Given the description of an element on the screen output the (x, y) to click on. 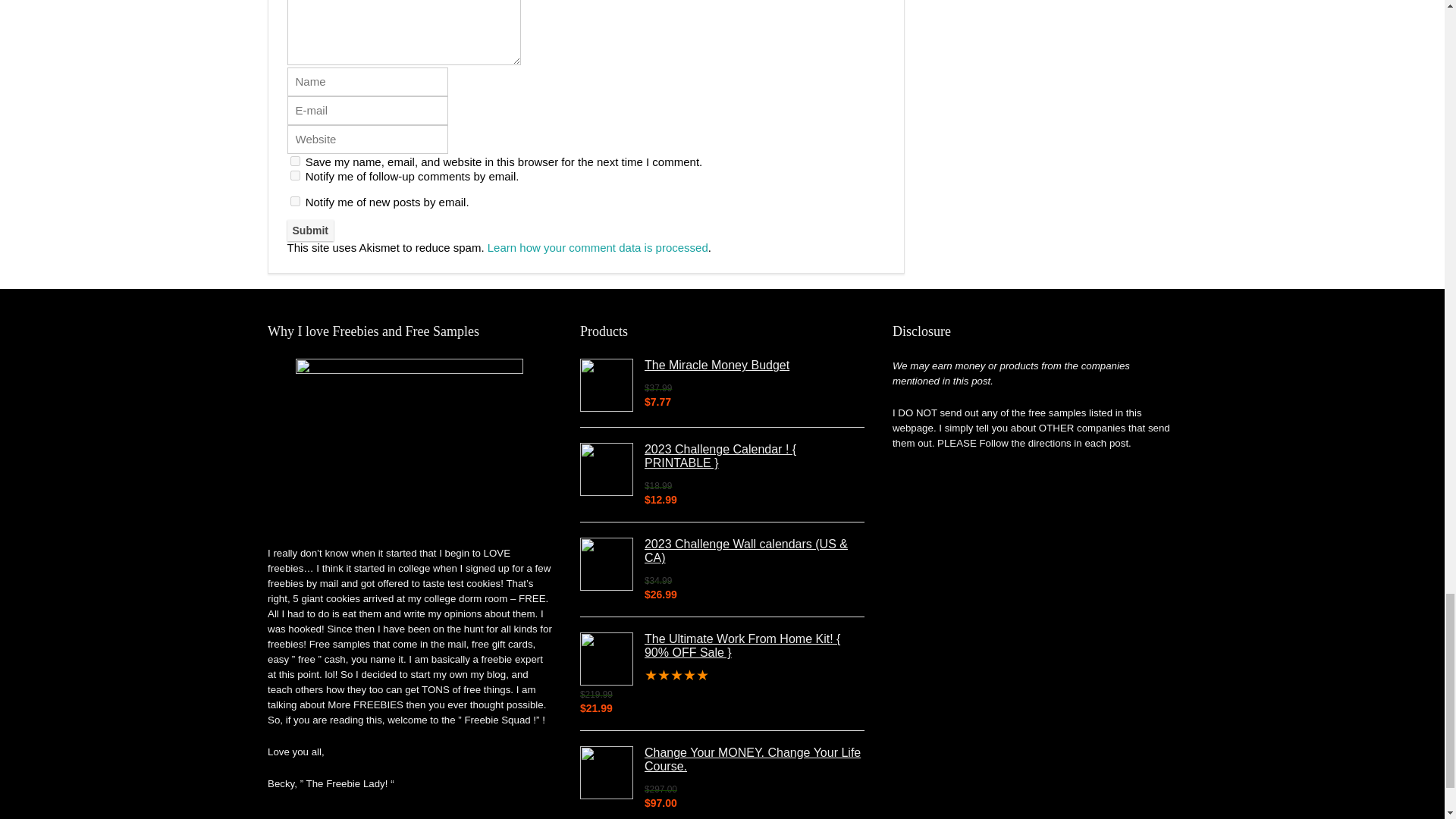
Submit (309, 230)
yes (294, 161)
subscribe (294, 201)
subscribe (294, 175)
Rated 5 out of 5 (721, 675)
